Given the description of an element on the screen output the (x, y) to click on. 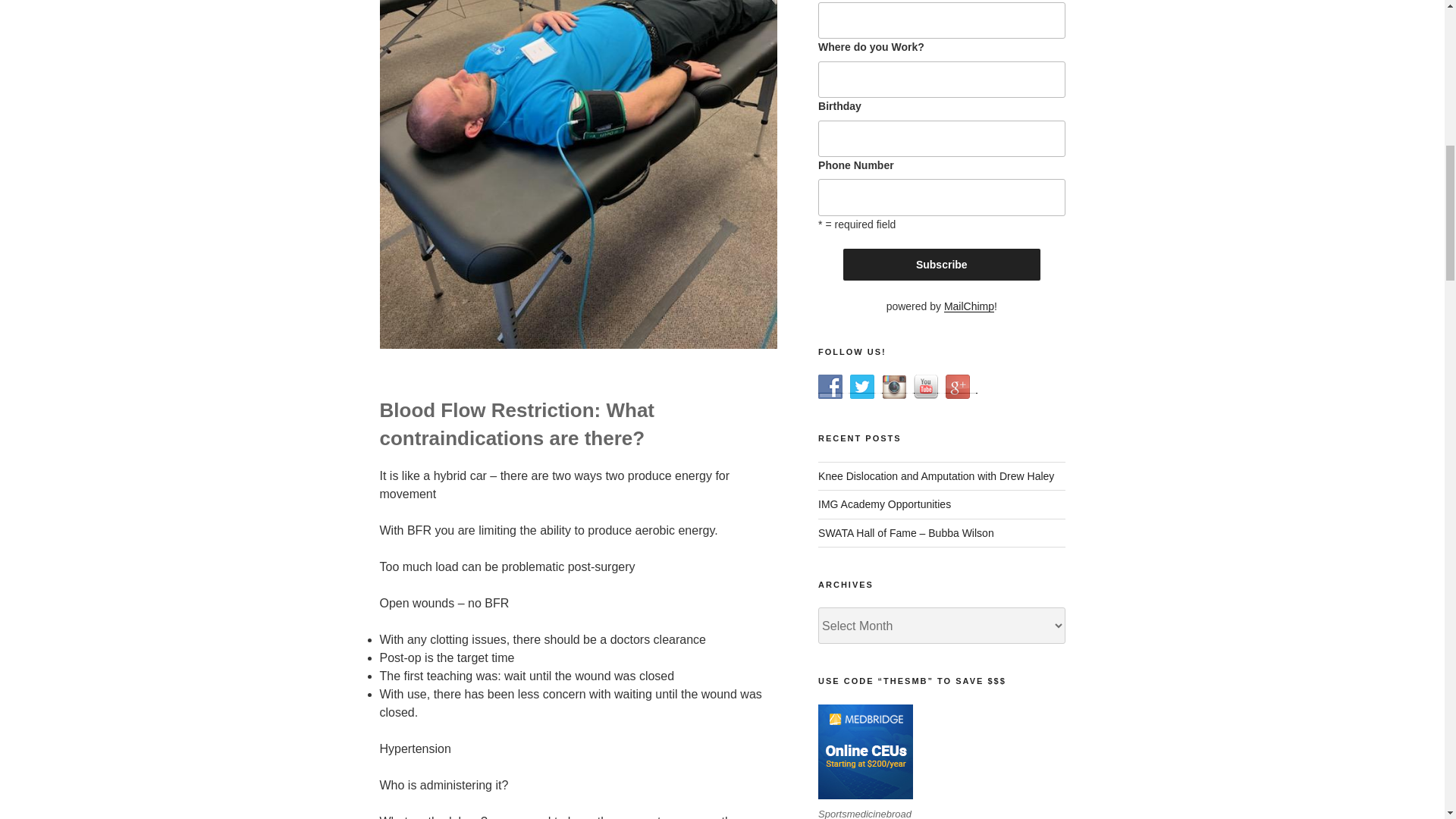
Subscribe (942, 264)
Sports Medicine Broadcast (830, 386)
Sports Medicine Broadcast (893, 386)
